Given the description of an element on the screen output the (x, y) to click on. 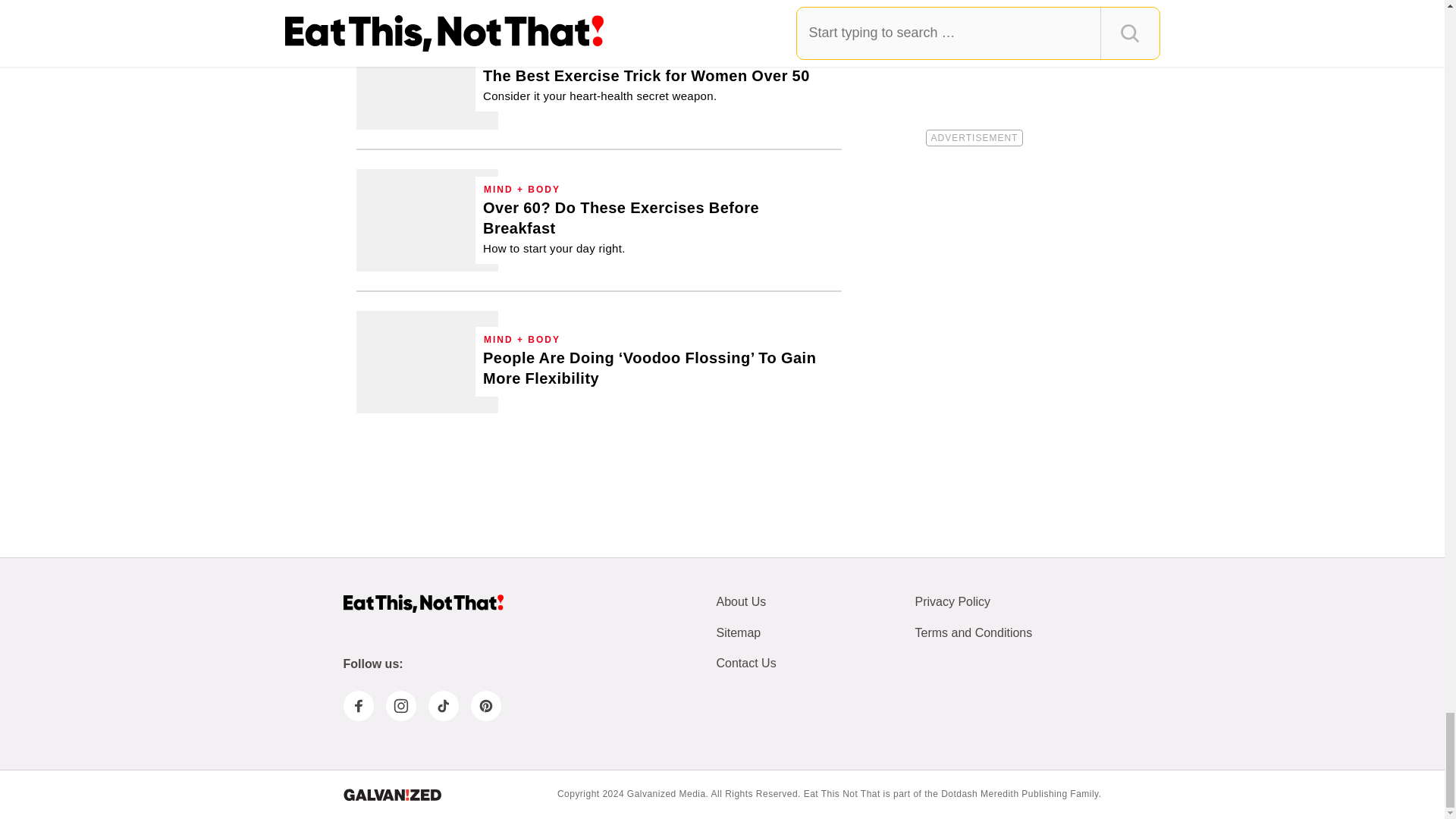
Over 60? Do These Exercises Before Breakfast, Say Experts (426, 219)
One Secret Exercise Trick That Women Over 50 Should Try Now (426, 77)
One Secret Exercise Trick That Women Over 50 Should Try Now (646, 85)
Over 60? Do These Exercises Before Breakfast, Say Experts (658, 227)
